Given the description of an element on the screen output the (x, y) to click on. 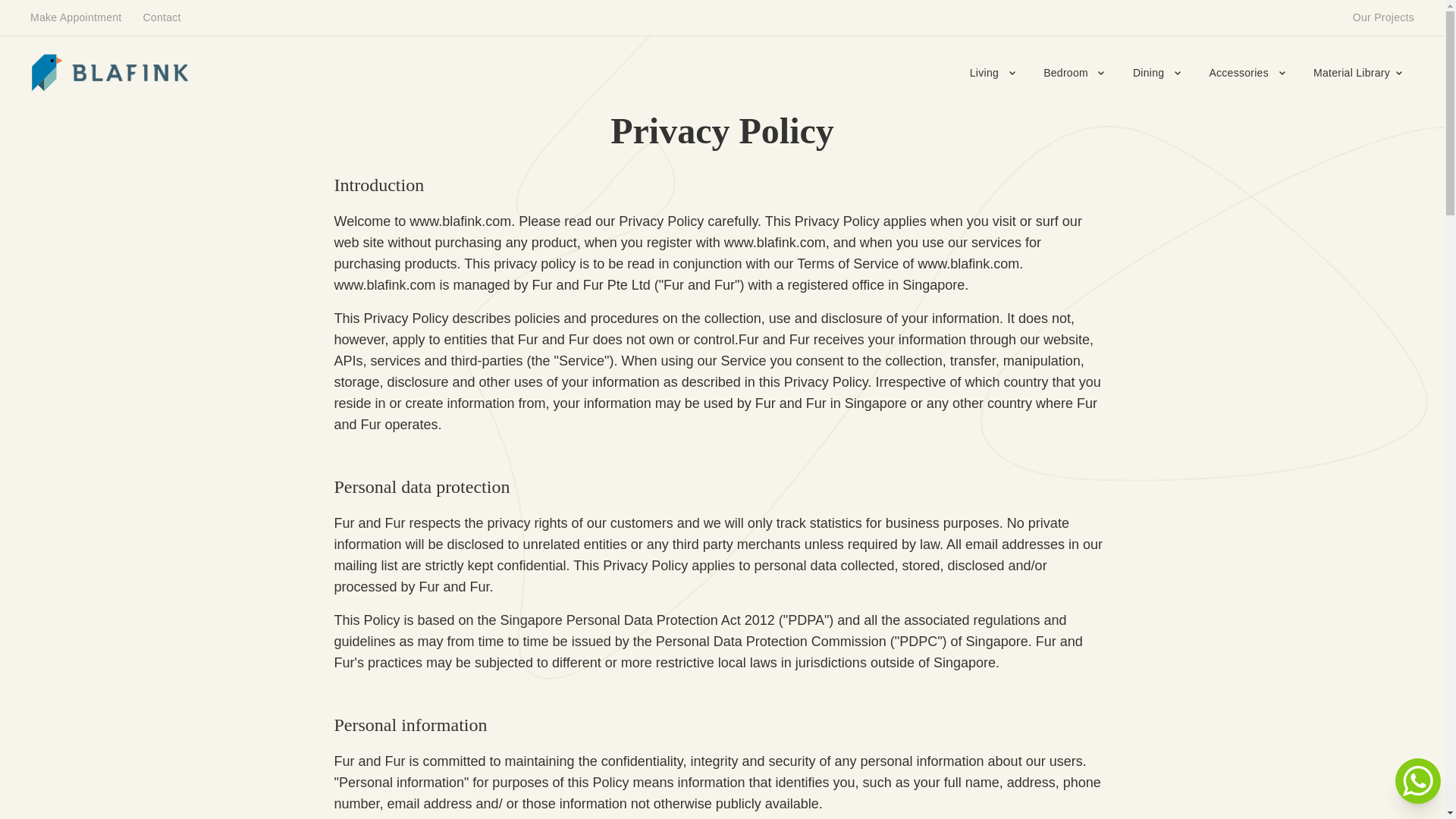
Contact (161, 18)
Make Appointment (76, 18)
Our Projects (1383, 18)
